Given the description of an element on the screen output the (x, y) to click on. 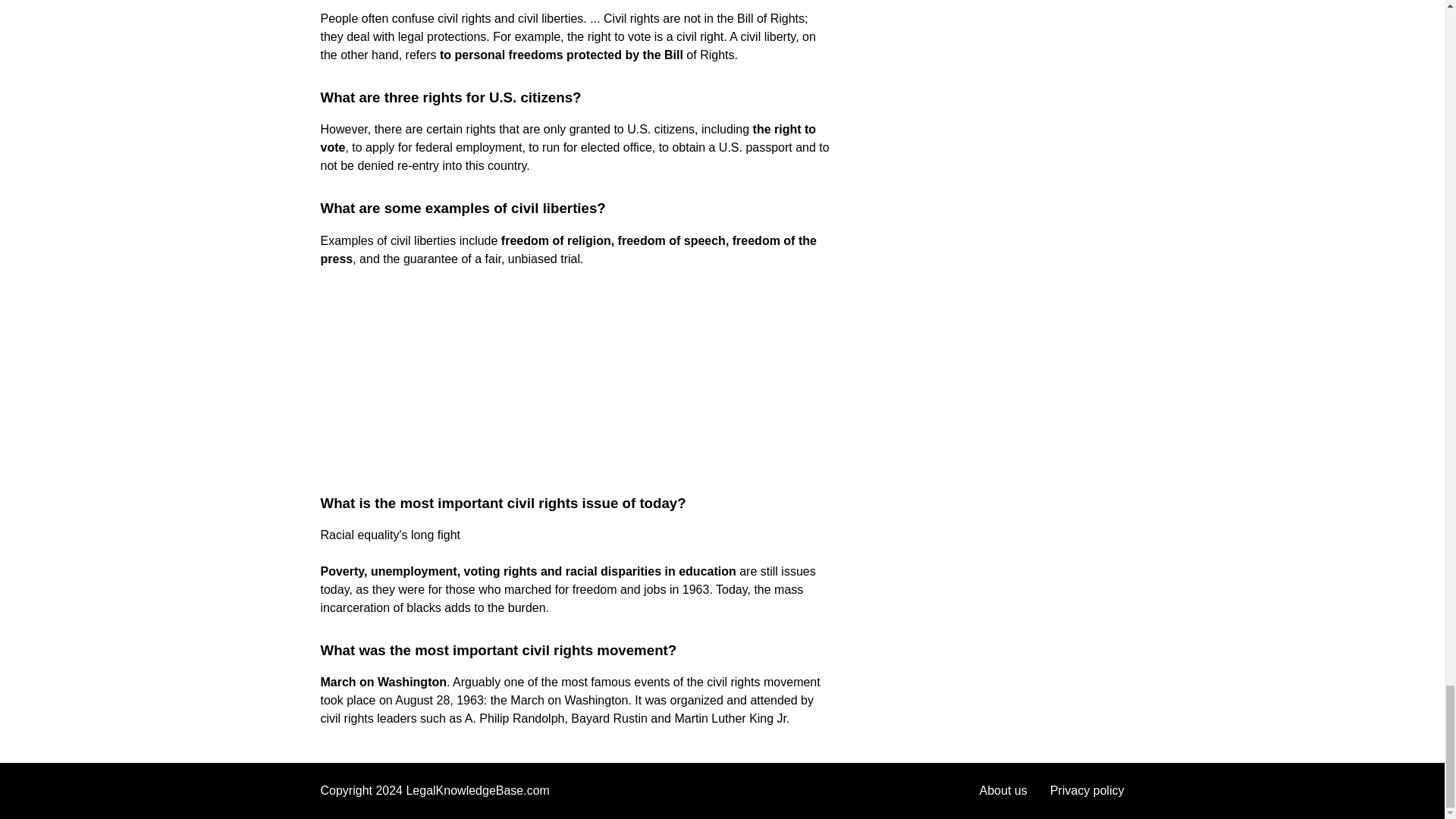
About us (1003, 790)
Privacy policy (1086, 790)
